Given the description of an element on the screen output the (x, y) to click on. 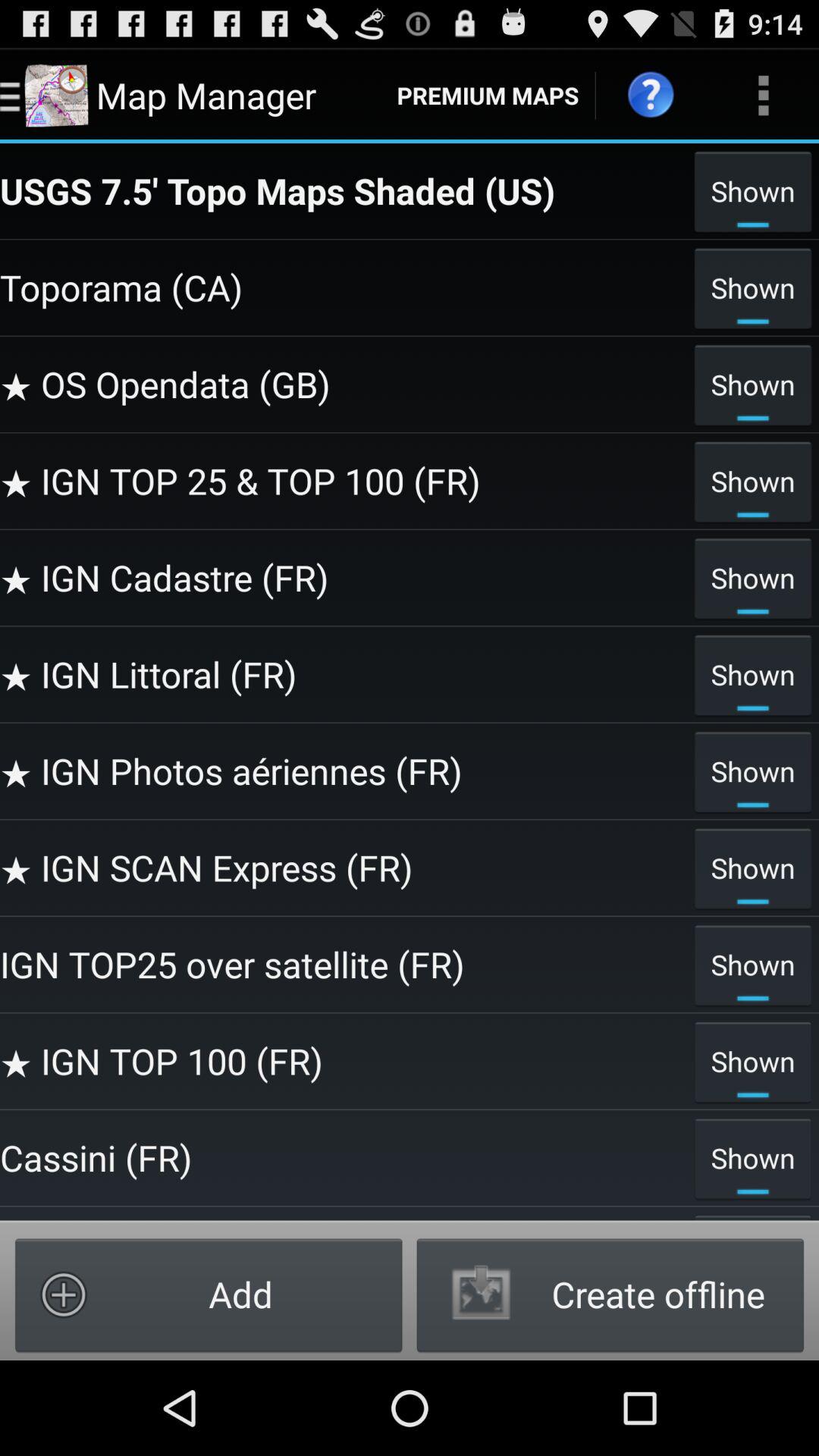
click icon next to the shown (343, 674)
